Given the description of an element on the screen output the (x, y) to click on. 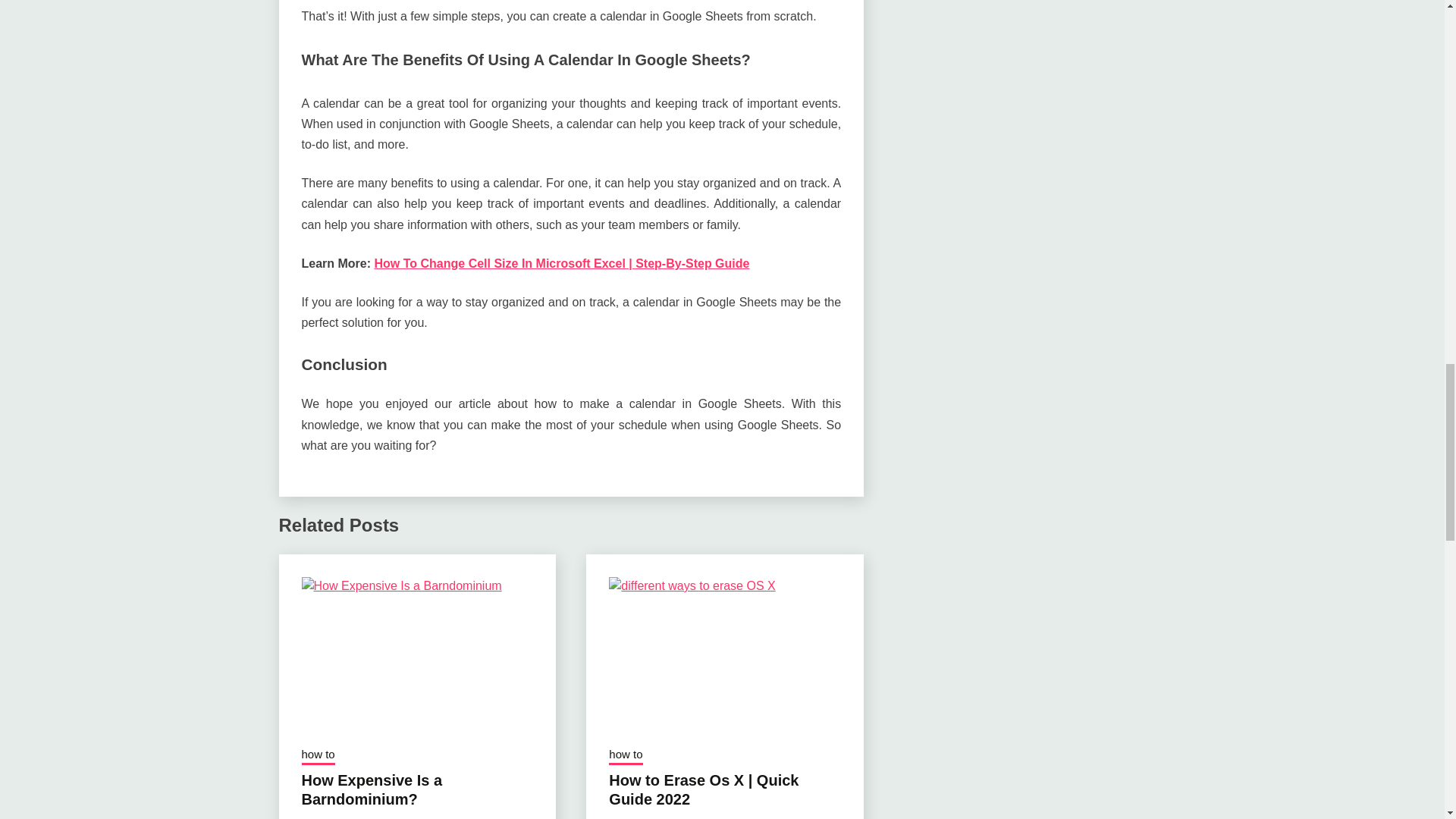
how to (317, 755)
How Expensive Is a Barndominium? (371, 789)
